Given the description of an element on the screen output the (x, y) to click on. 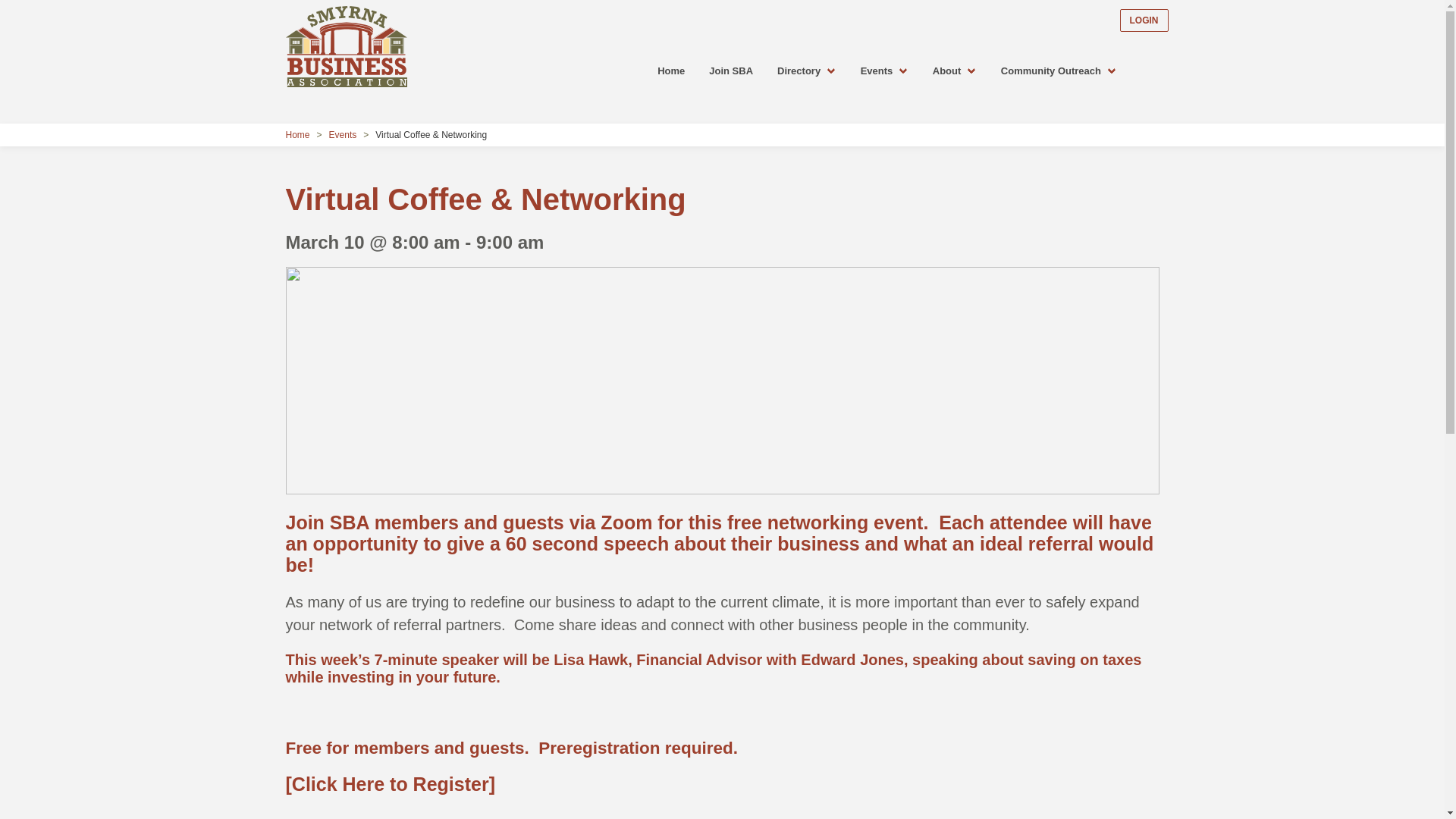
Home (300, 134)
Home (300, 134)
Community Outreach (1058, 71)
Events (884, 71)
Community Outreach (1058, 71)
Join SBA (730, 70)
Events (884, 71)
About (954, 71)
Home (671, 70)
Home (671, 70)
Directory (806, 71)
Join SBA (730, 70)
LOGIN (1143, 20)
Directory (806, 71)
Financial Advisor with Edward Jones (770, 659)
